Given the description of an element on the screen output the (x, y) to click on. 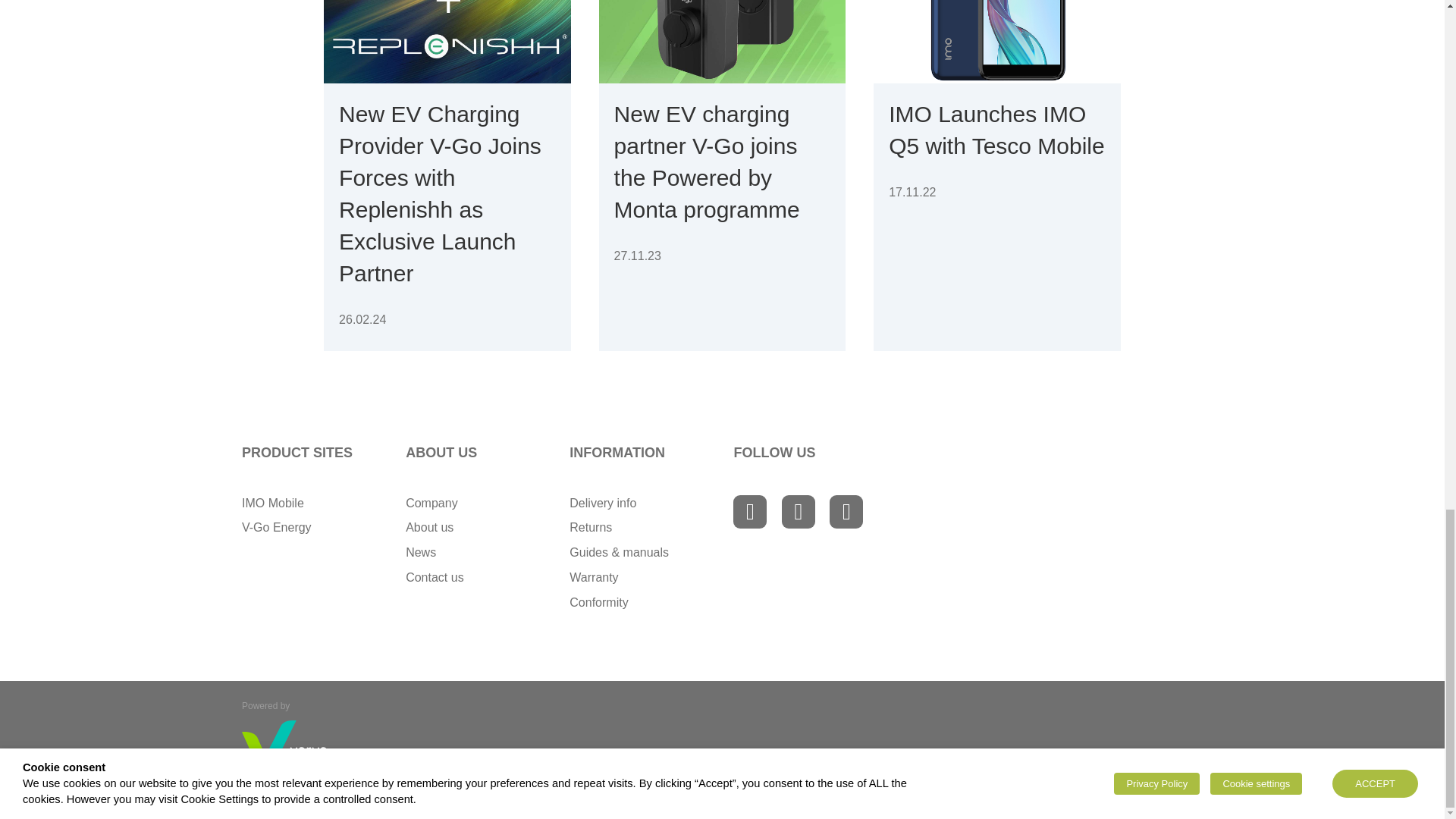
V-Go Energy (276, 526)
IMO Launches IMO Q5 with Tesco Mobile (996, 130)
About us (429, 526)
IMO Mobile (272, 502)
Company (431, 502)
